Given the description of an element on the screen output the (x, y) to click on. 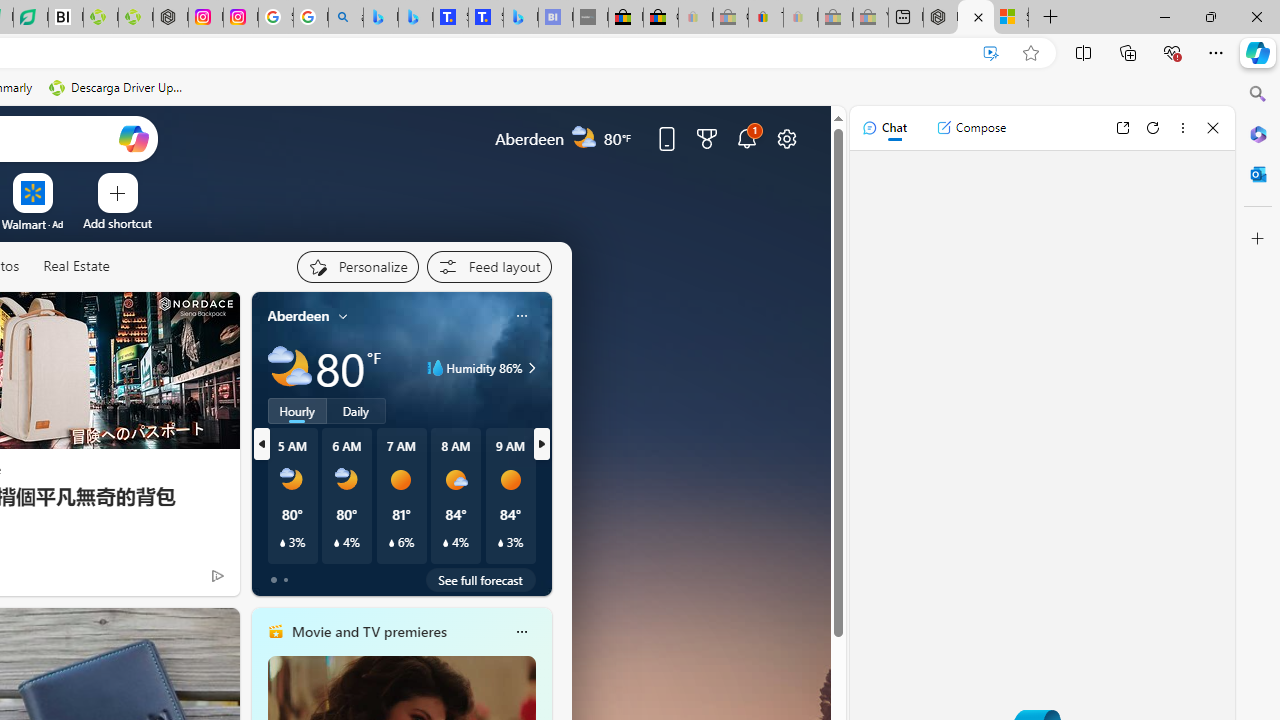
Partly cloudy (289, 368)
See full forecast (480, 579)
Daily (356, 411)
Microsoft Bing Travel - Stays in Bangkok, Bangkok, Thailand (415, 17)
